Given the description of an element on the screen output the (x, y) to click on. 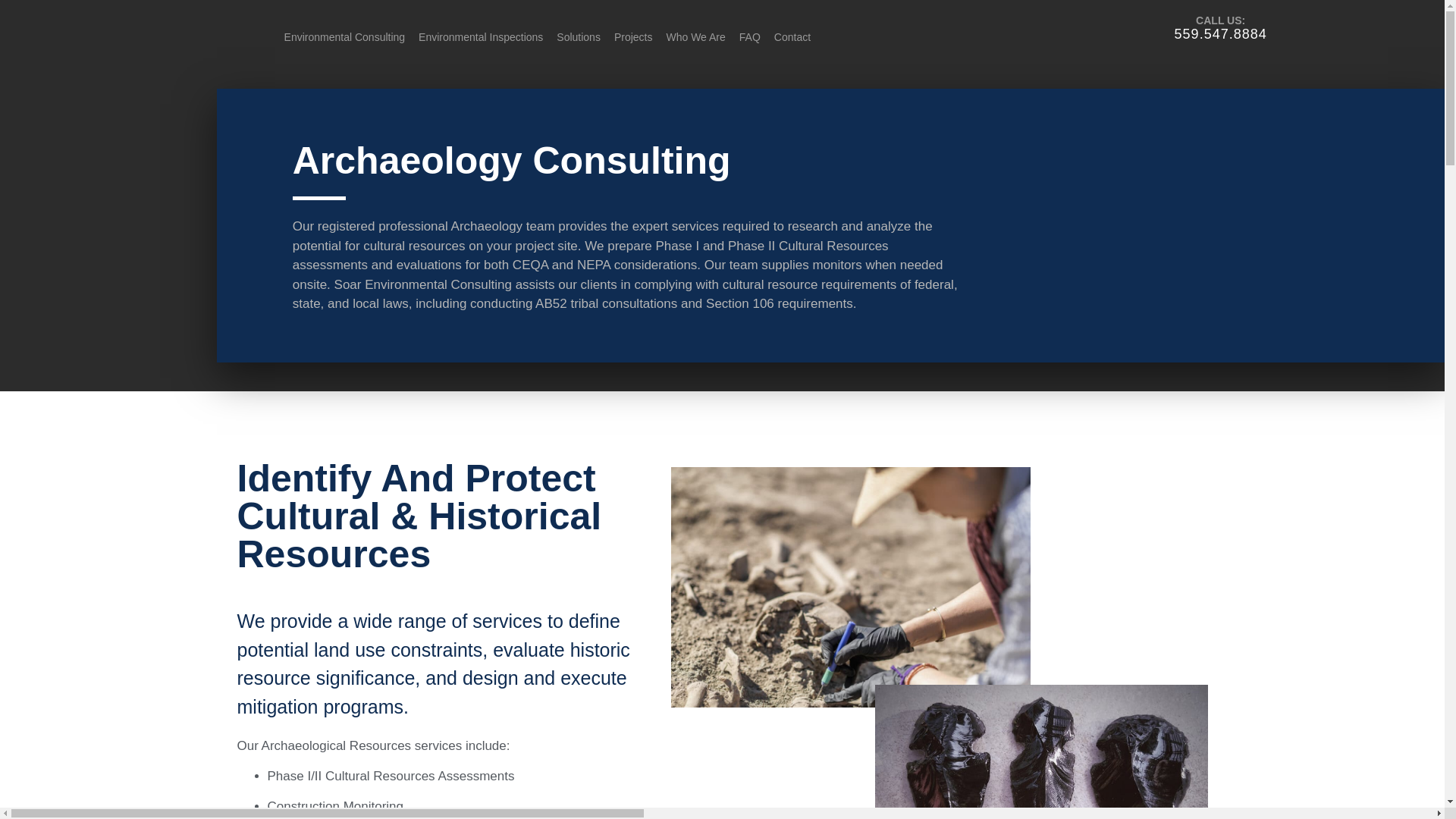
Contact (791, 36)
Solutions (578, 36)
FAQ (749, 36)
Environmental Inspections (481, 36)
Environmental Consulting (345, 36)
Projects (633, 36)
Who We Are (695, 36)
